Given the description of an element on the screen output the (x, y) to click on. 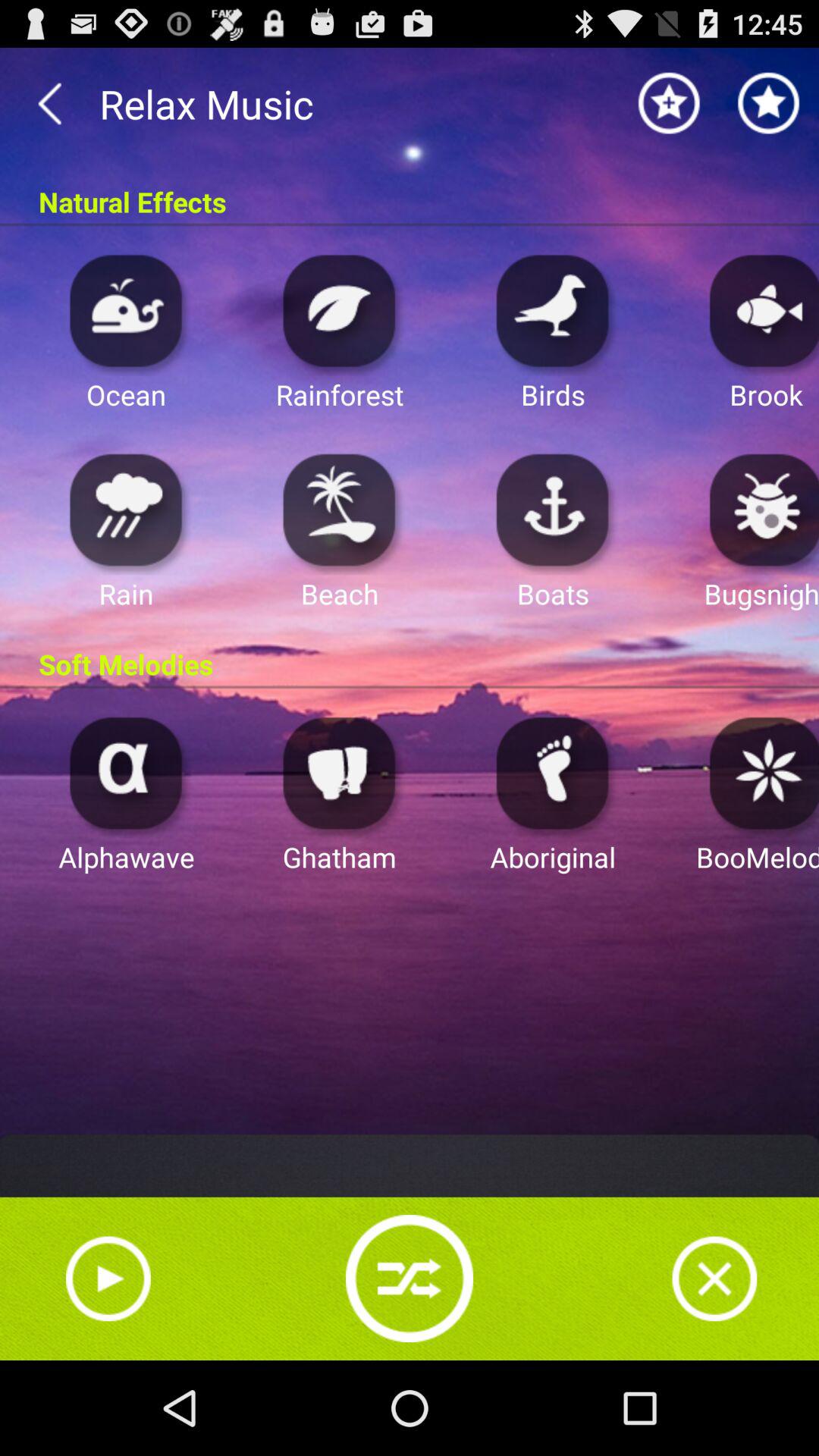
play bird sounds (552, 309)
